Given the description of an element on the screen output the (x, y) to click on. 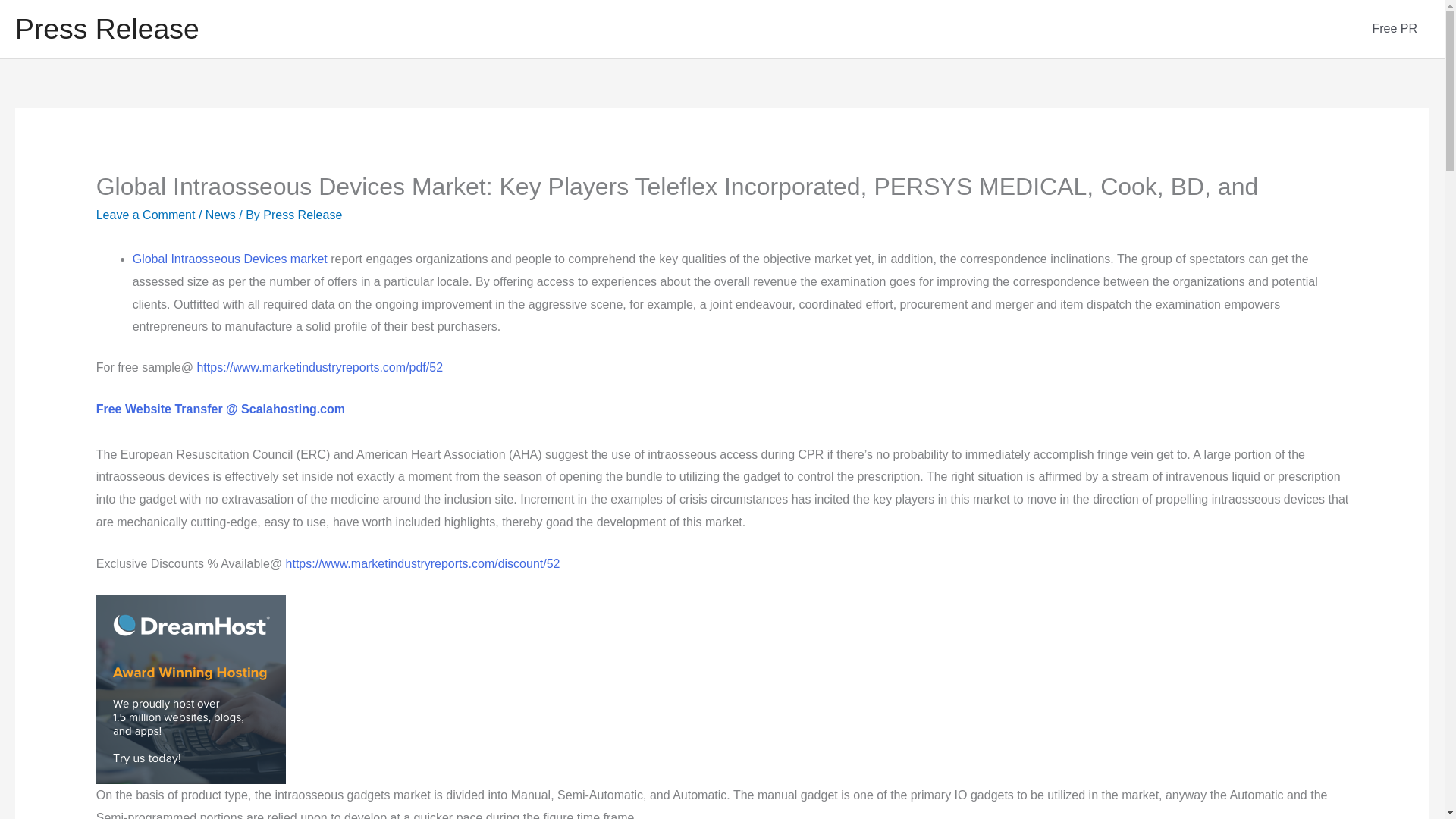
Press Release (302, 214)
Free PR (1394, 29)
Leave a Comment (145, 214)
View all posts by Press Release (302, 214)
News (220, 214)
Press Release (106, 29)
Global Intraosseous Devices market (229, 258)
